Given the description of an element on the screen output the (x, y) to click on. 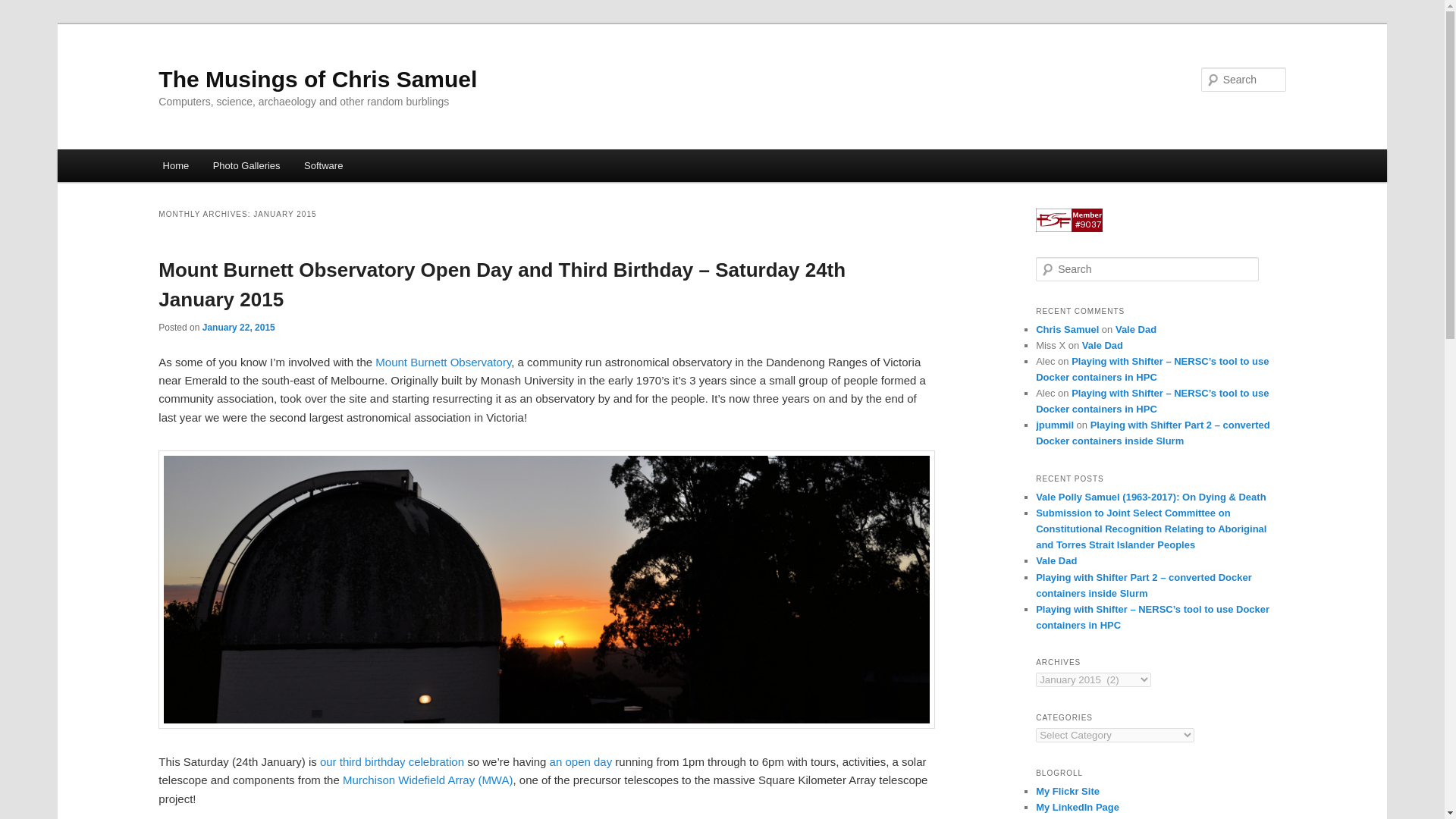
Mount Burnett Observatory (443, 361)
Chris Samuel (1067, 328)
Software (323, 165)
Photo Galleries (246, 165)
Home (175, 165)
Chris Samuel on Flickr (1067, 790)
an open day (581, 761)
jpummil (1054, 424)
Search (21, 11)
January 22, 2015 (238, 327)
Mount Burnett Observatory (443, 361)
